Given the description of an element on the screen output the (x, y) to click on. 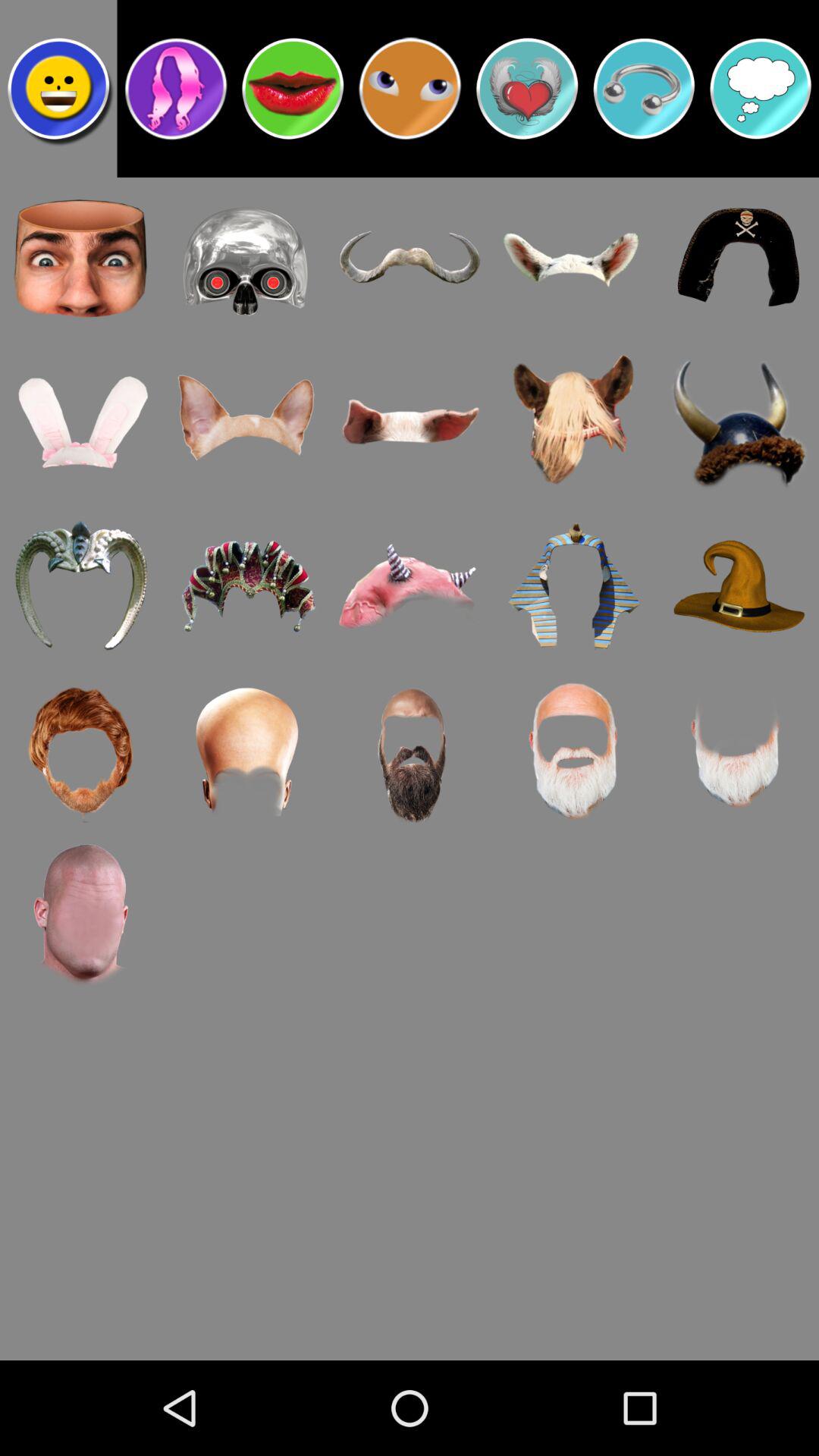
show thought bubble pictures (760, 88)
